Given the description of an element on the screen output the (x, y) to click on. 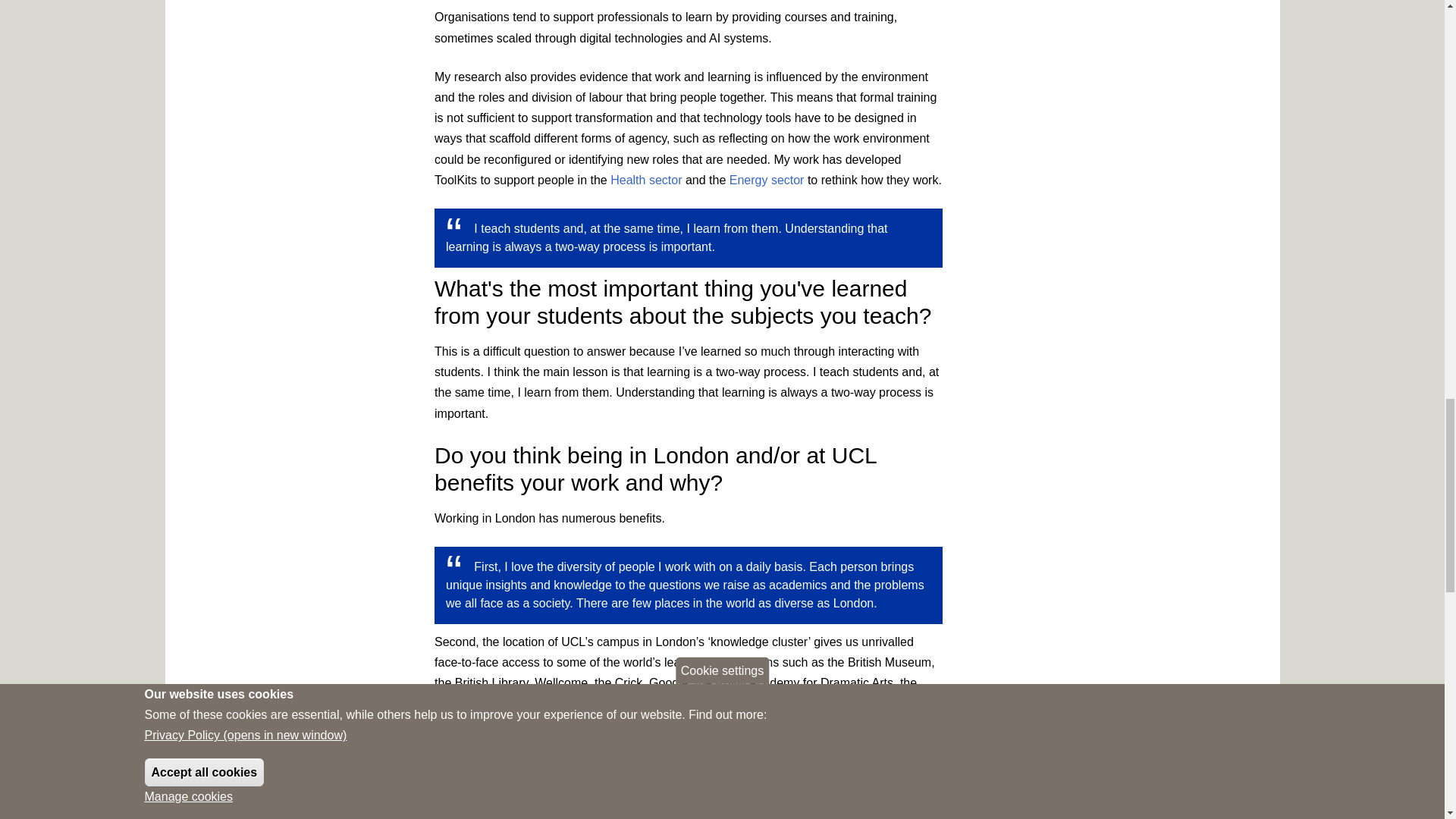
Health sector (645, 179)
Energy sector (767, 179)
